Given the description of an element on the screen output the (x, y) to click on. 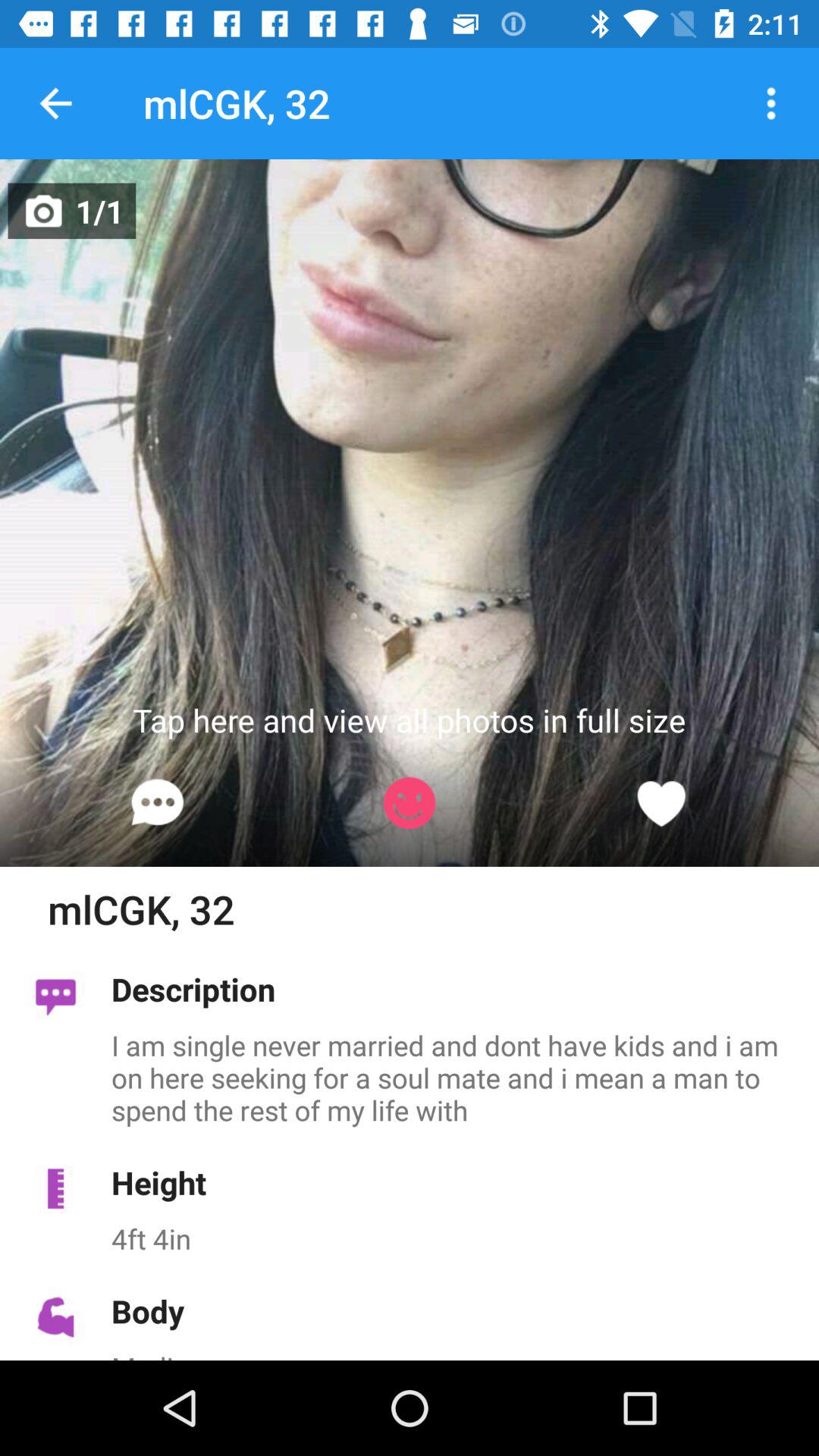
turn off i am single (457, 1077)
